Given the description of an element on the screen output the (x, y) to click on. 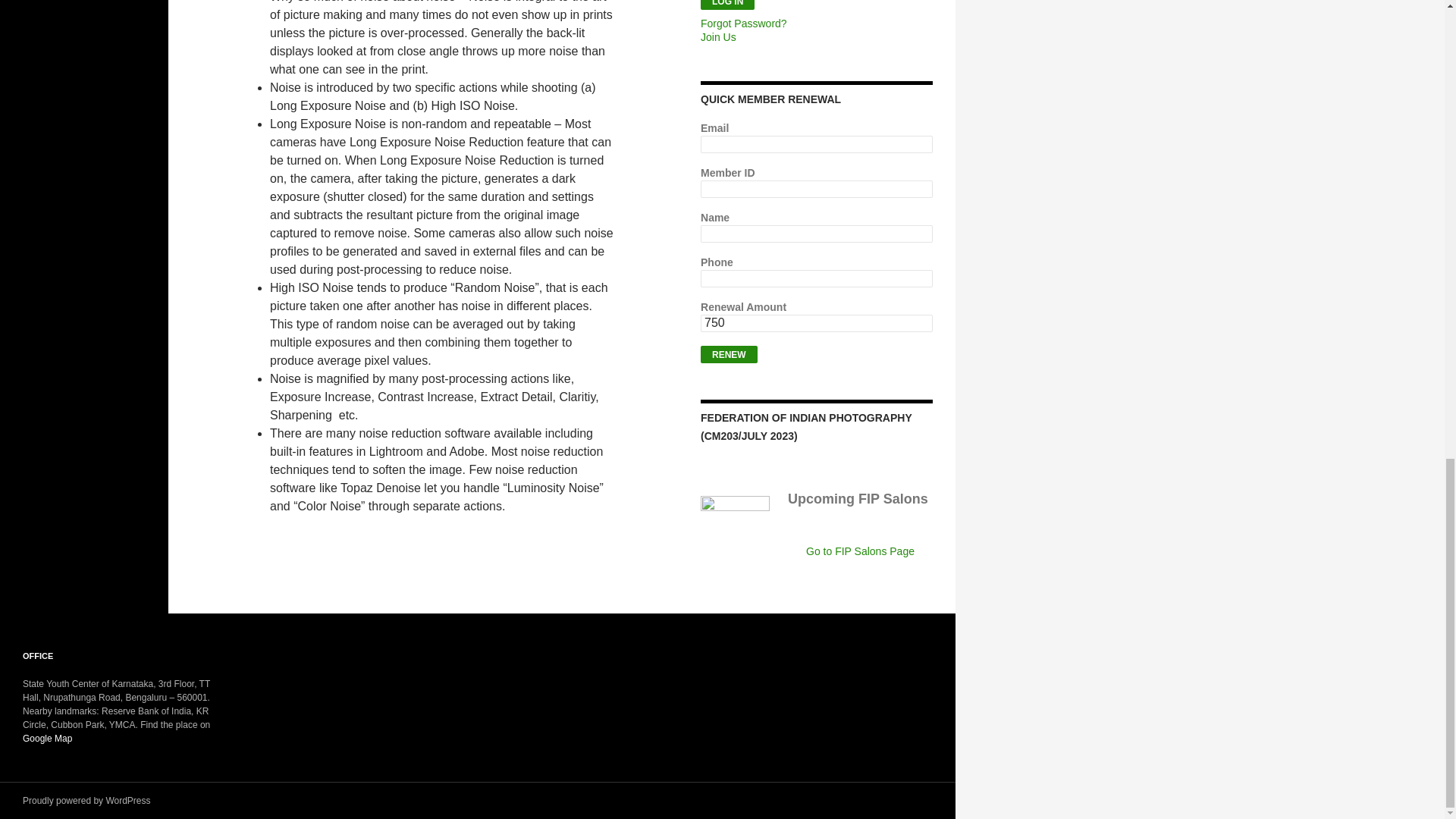
Renew (728, 354)
Log In (727, 4)
Renew (728, 354)
750 (816, 323)
Join Us (718, 37)
Go to FIP Salons Page (860, 551)
Forgot Password? (743, 23)
Log In (727, 4)
